Given the description of an element on the screen output the (x, y) to click on. 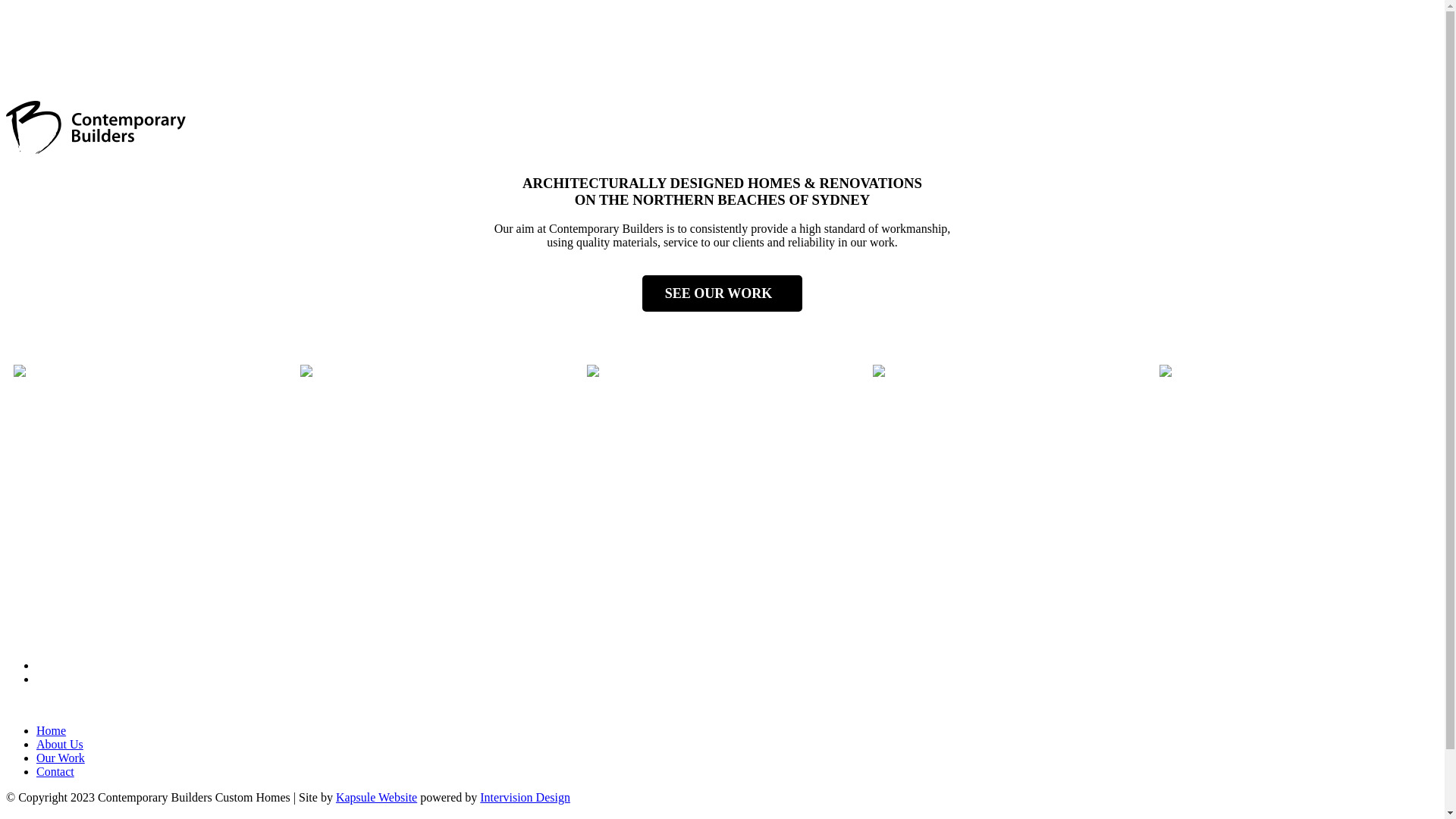
Kapsule Website Element type: text (376, 796)
Home Element type: text (50, 730)
About Us Element type: text (59, 743)
Contact Element type: text (55, 771)
Intervision Design Element type: text (525, 796)
SEE OUR WORK Element type: text (722, 293)
Our Work Element type: text (60, 757)
